Given the description of an element on the screen output the (x, y) to click on. 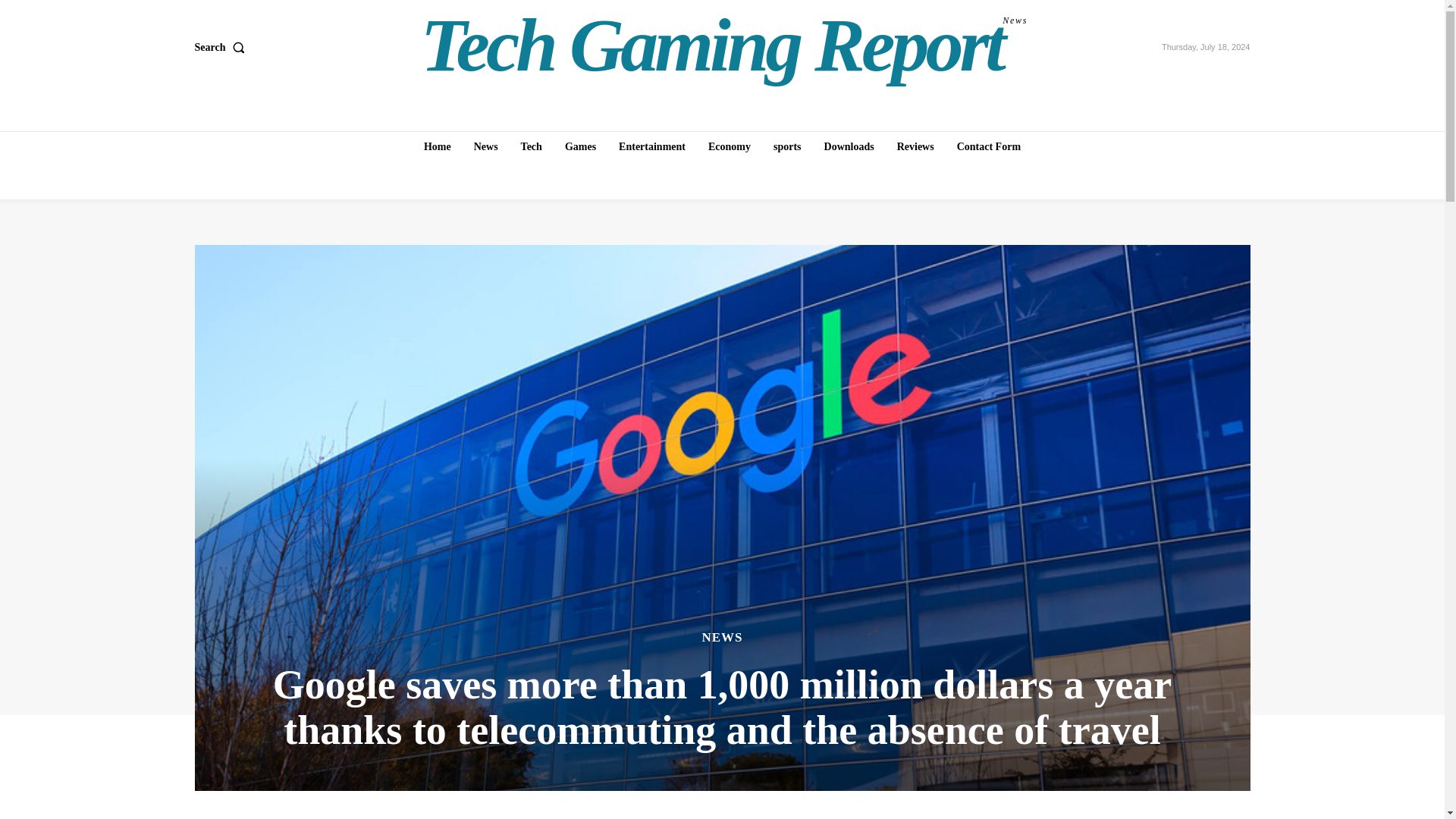
Games (580, 146)
Search (724, 45)
Contact Form (221, 47)
Home (988, 146)
sports (437, 146)
Tech (787, 146)
Reviews (531, 146)
Entertainment (915, 146)
Economy (652, 146)
Downloads (729, 146)
News (849, 146)
